Given the description of an element on the screen output the (x, y) to click on. 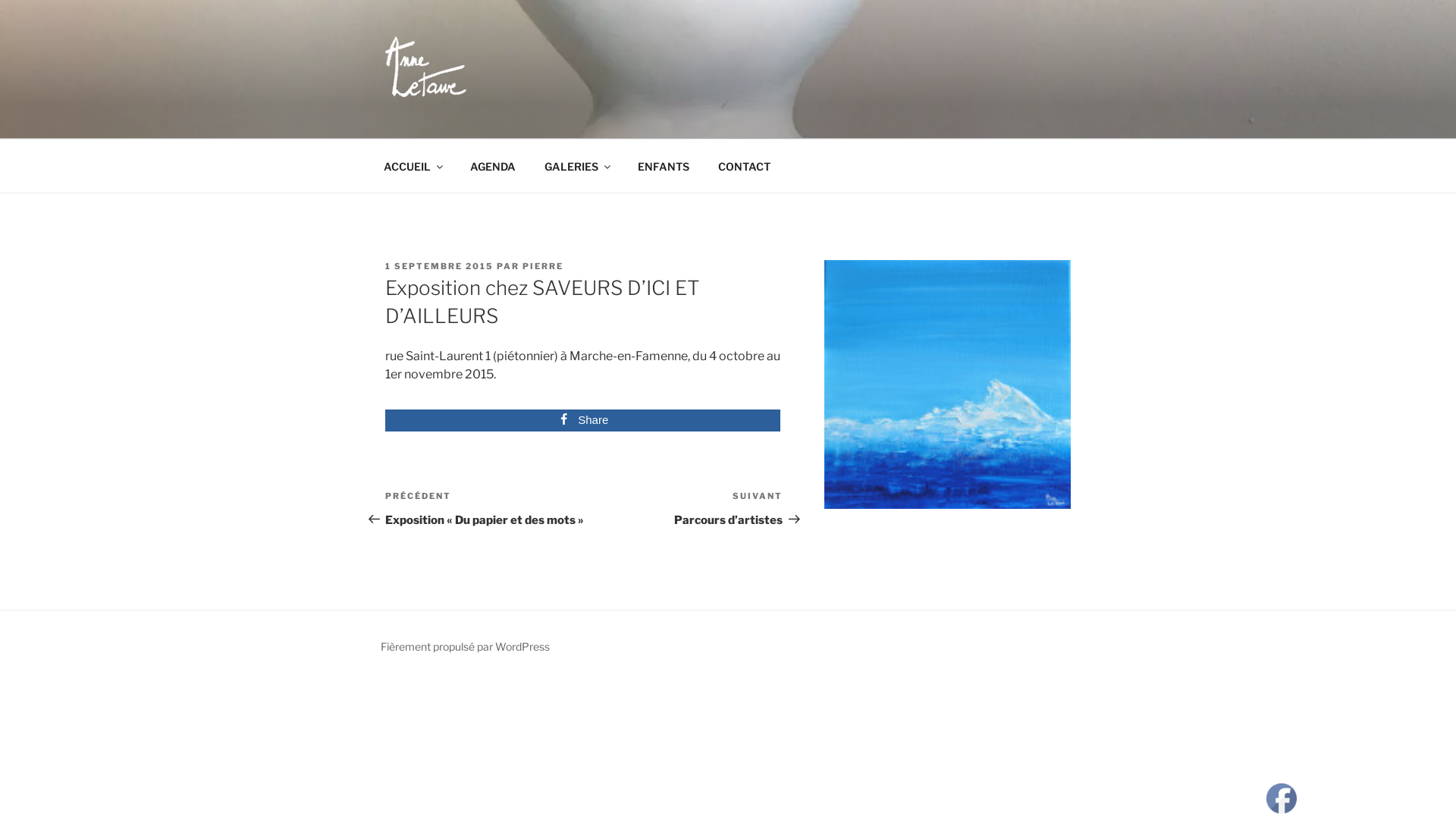
GALERIES Element type: text (575, 165)
ANNE LETAWE Element type: text (498, 118)
ACCUEIL Element type: text (412, 165)
CONTACT Element type: text (743, 165)
Share Element type: text (582, 420)
Facebook Element type: hover (1281, 798)
PIERRE Element type: text (542, 265)
AGENDA Element type: text (492, 165)
ENFANTS Element type: text (663, 165)
1 SEPTEMBRE 2015 Element type: text (439, 265)
